Given the description of an element on the screen output the (x, y) to click on. 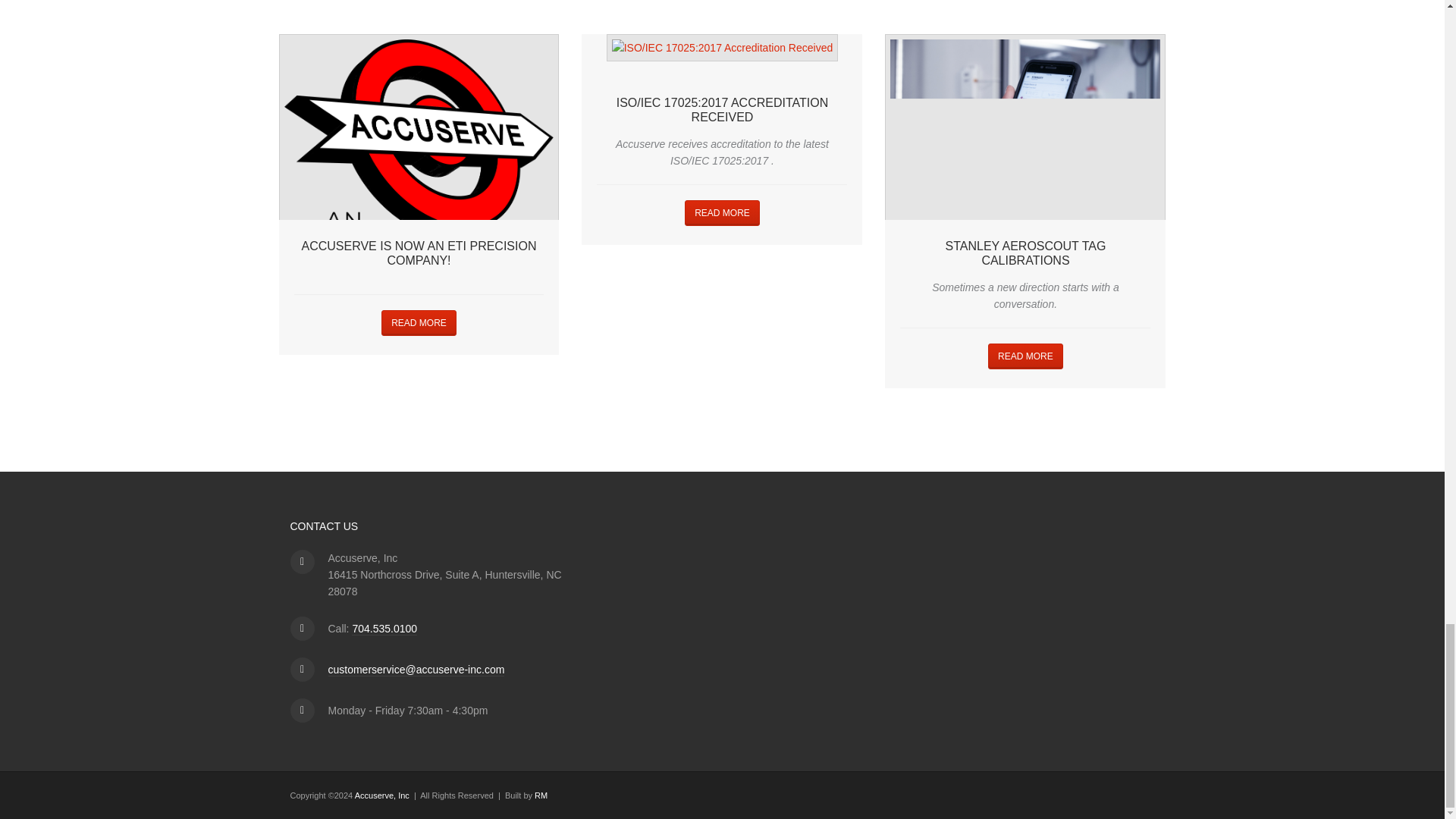
ACCUSERVE IS NOW AN ETI PRECISION COMPANY! (419, 252)
READ MORE (419, 322)
READ MORE (722, 212)
